Given the description of an element on the screen output the (x, y) to click on. 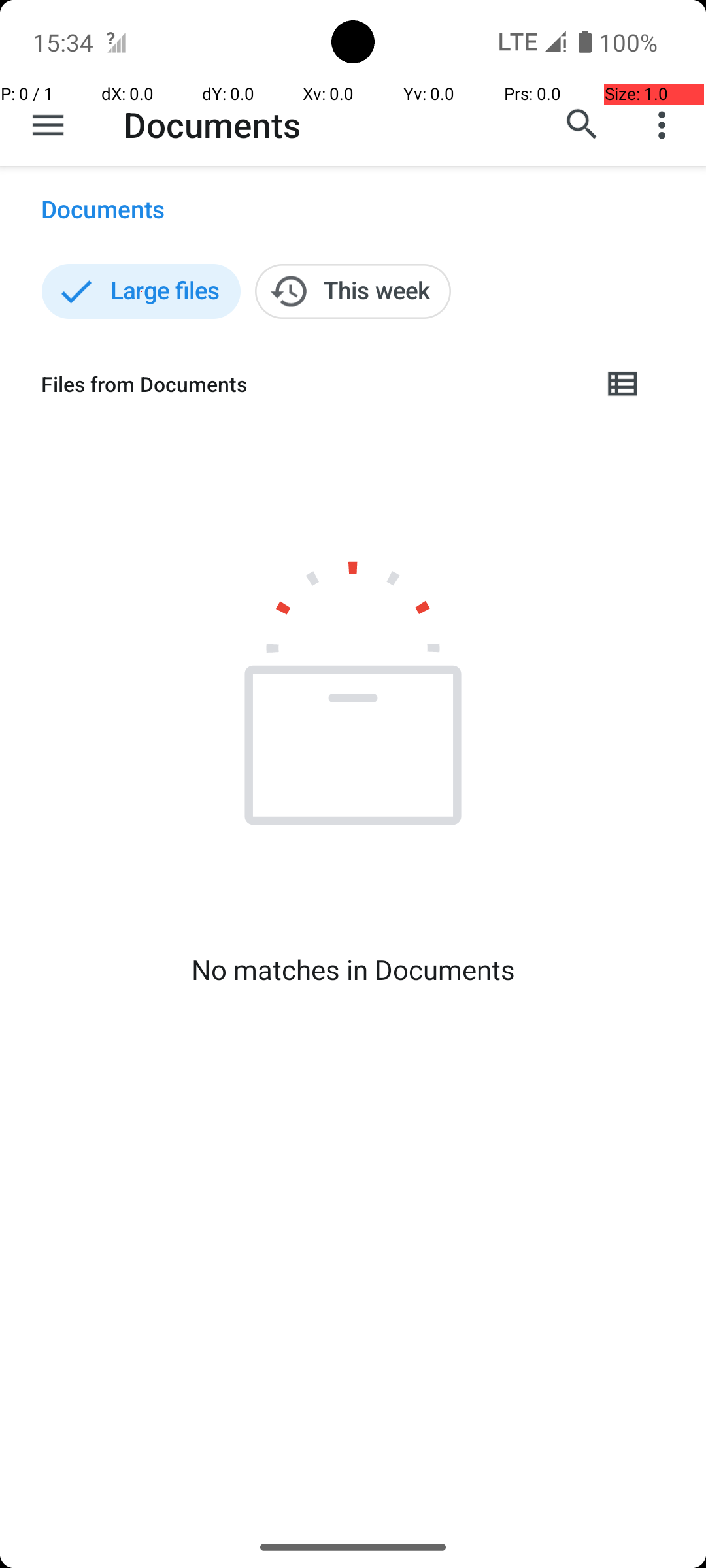
No matches in Documents Element type: android.widget.TextView (352, 968)
